Given the description of an element on the screen output the (x, y) to click on. 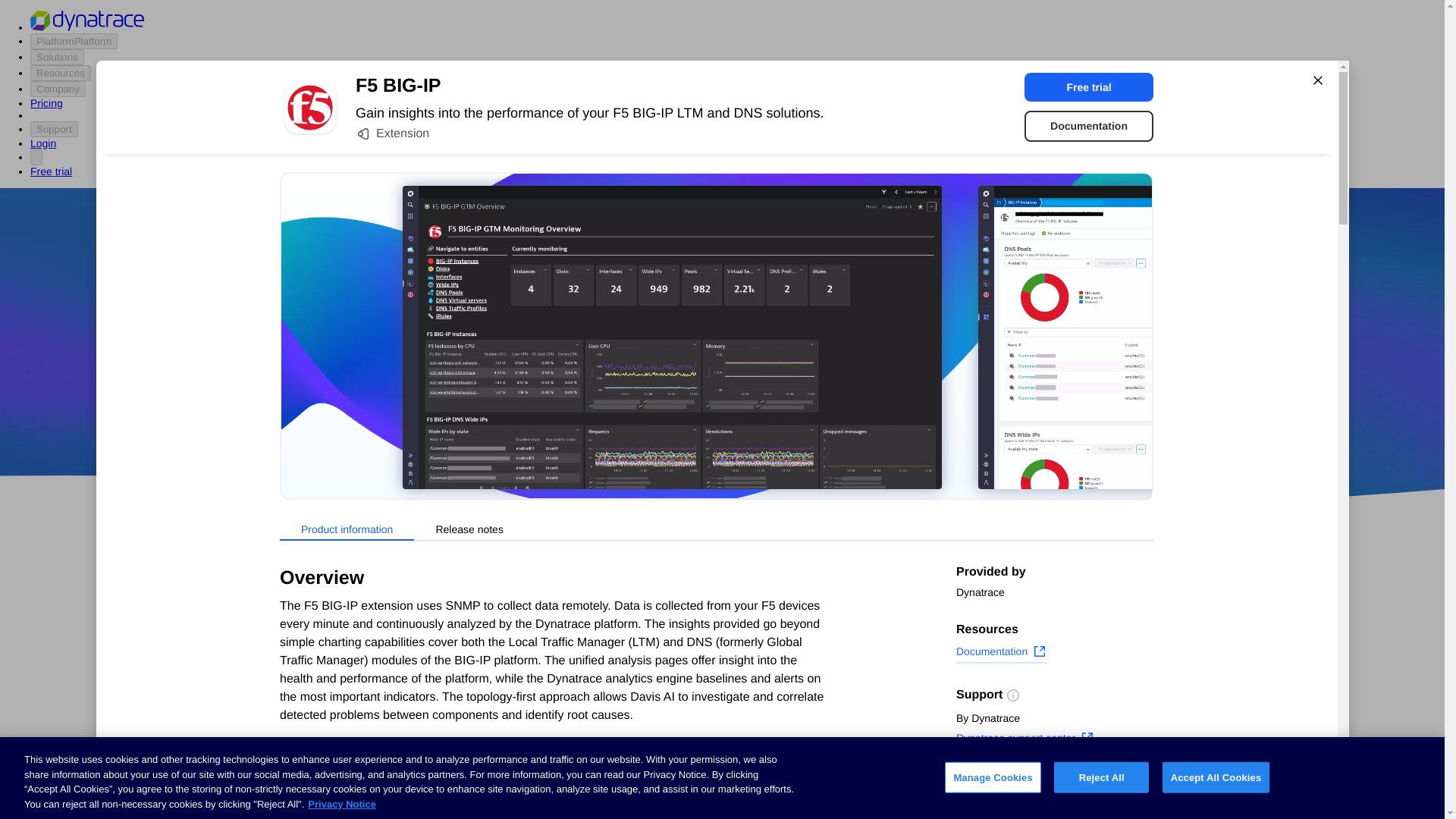
360performance (840, 375)
DevOps (829, 418)
360performance (840, 375)
 certificate ssl synthetic test (607, 793)
Copy page link (1003, 806)
Documentation (1001, 653)
Advanced SSL Certificate Check for Dynatrace (606, 731)
Subscribe to new releases (1054, 782)
Documentation (1089, 125)
Azure (681, 418)
Open source (903, 418)
AWS (637, 418)
Free trial (1089, 86)
Google Cloud (751, 418)
Dynatrace support center (1025, 740)
